Given the description of an element on the screen output the (x, y) to click on. 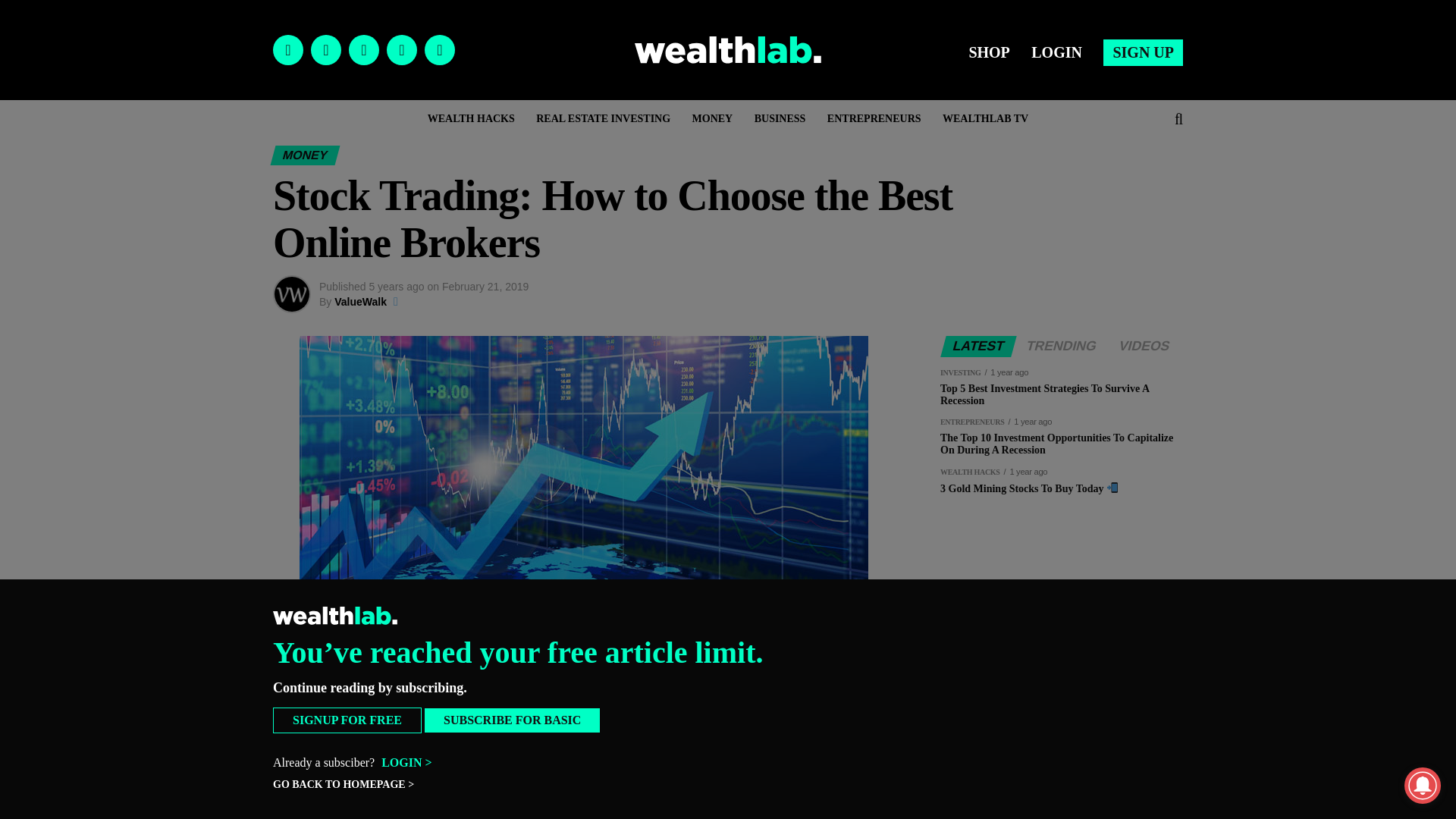
REAL ESTATE INVESTING (603, 118)
SIGN UP (1142, 52)
Shop (988, 52)
Posts by ValueWalk (360, 301)
ENTREPRENEURS (874, 118)
LOGIN (1056, 52)
BUSINESS (780, 118)
WEALTH HACKS (471, 118)
MONEY (712, 118)
Sign up (1142, 52)
